Given the description of an element on the screen output the (x, y) to click on. 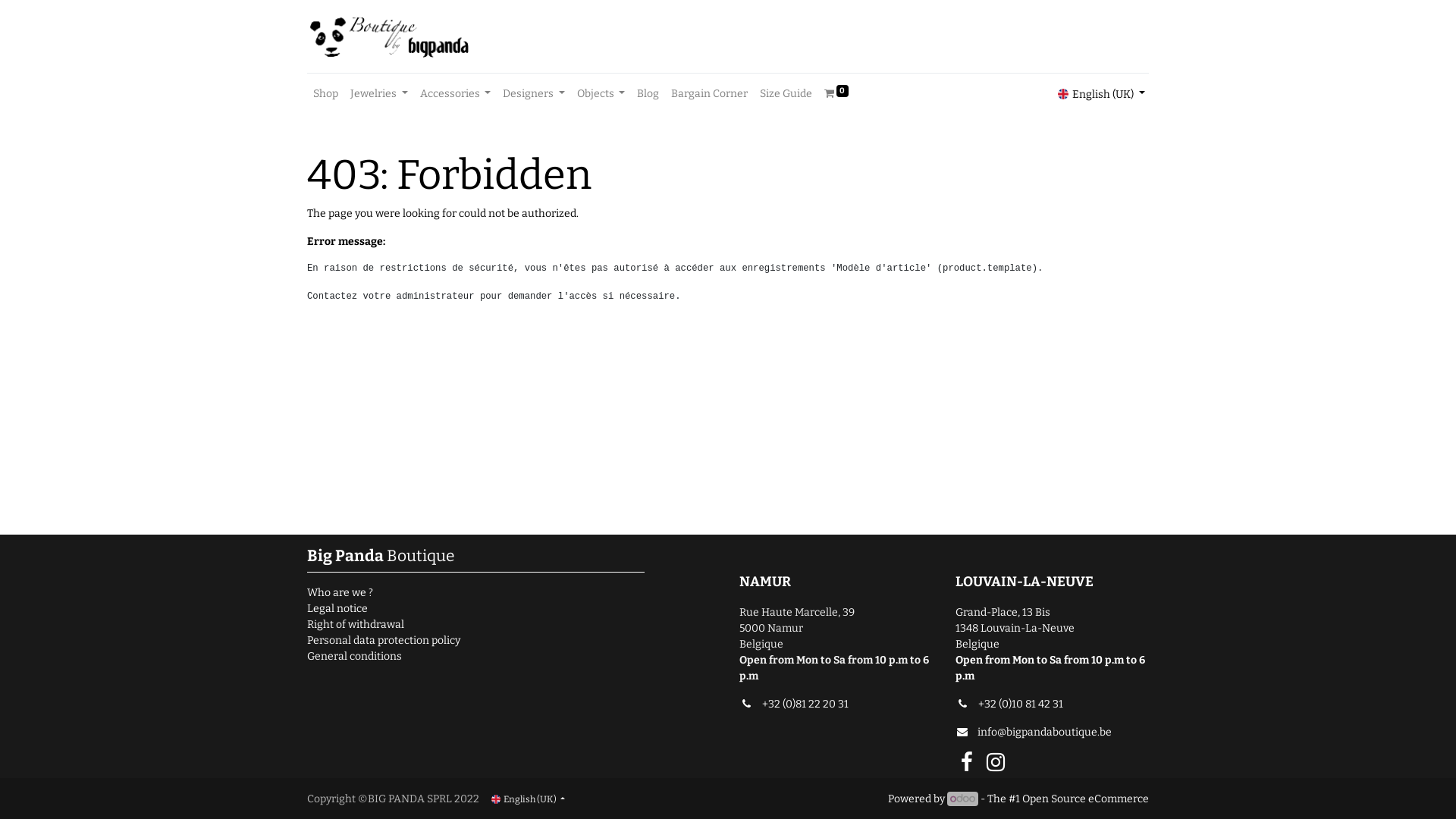
Size Guide Element type: text (785, 93)
Right of withdrawal Element type: text (355, 624)
English (UK) Element type: text (1101, 93)
info@bigpandaboutique.be Element type: text (1033, 731)
Legal notice Element type: text (337, 608)
Who are we ? Element type: text (340, 592)
    +32 (0)10 81 42 31 Element type: text (1016, 703)
    +32 (0)81 22 20 31 Element type: text (800, 703)
English (UK) Element type: text (527, 798)
Bargain Corner Element type: text (709, 93)
Open Source eCommerce Element type: text (1085, 798)
Shop Element type: text (325, 93)
Big Panda Boutique Element type: hover (388, 36)
Designers Element type: text (533, 93)
Blog Element type: text (647, 93)
Personal data protection policy Element type: text (383, 639)
General conditions Element type: text (354, 655)
0 Element type: text (835, 93)
Accessories Element type: text (455, 93)
Objects Element type: text (601, 93)
Jewelries Element type: text (379, 93)
